Given the description of an element on the screen output the (x, y) to click on. 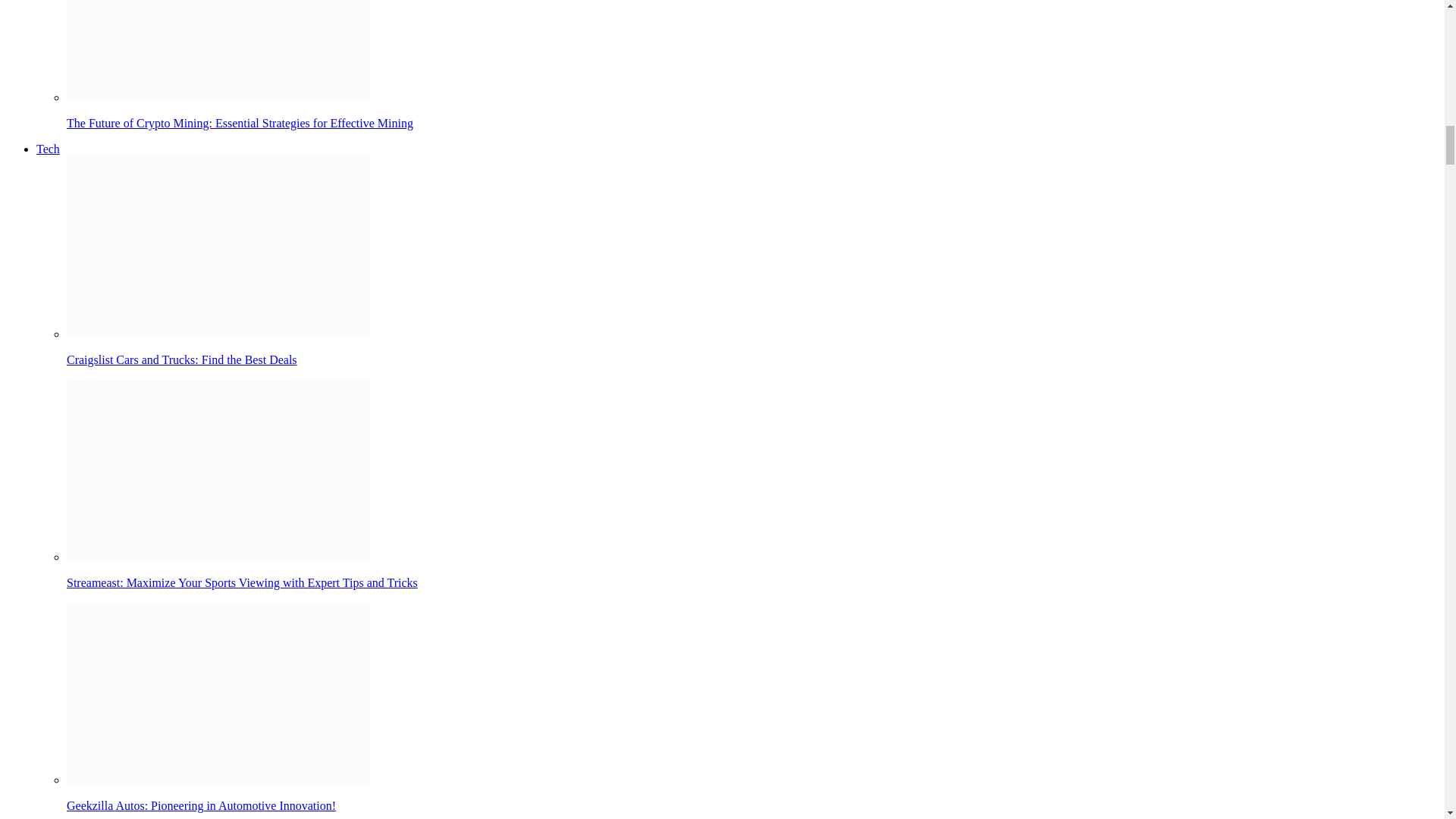
Tech (47, 148)
